Given the description of an element on the screen output the (x, y) to click on. 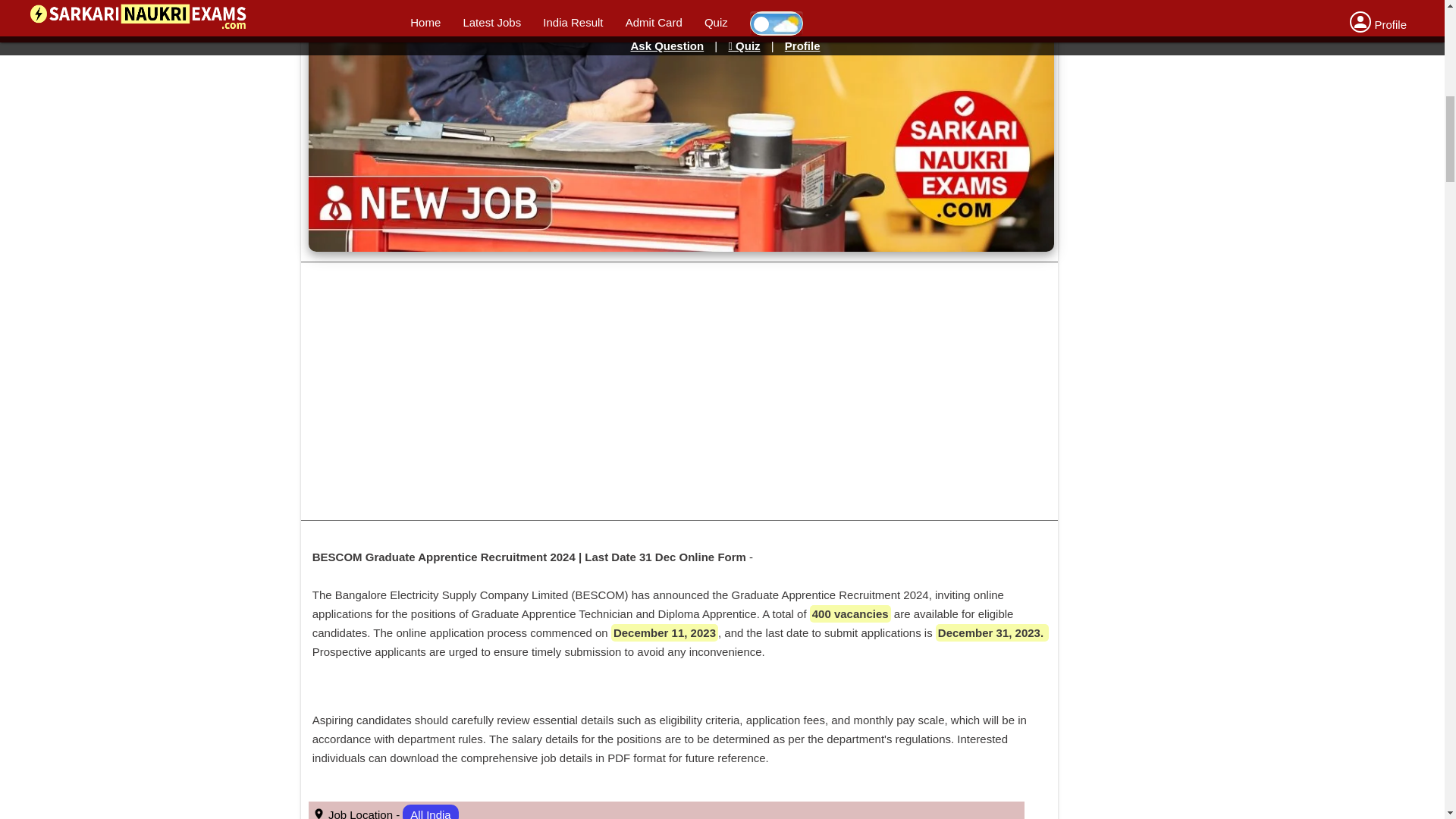
Advertisement (1233, 153)
Advertisement (1233, 17)
